Given the description of an element on the screen output the (x, y) to click on. 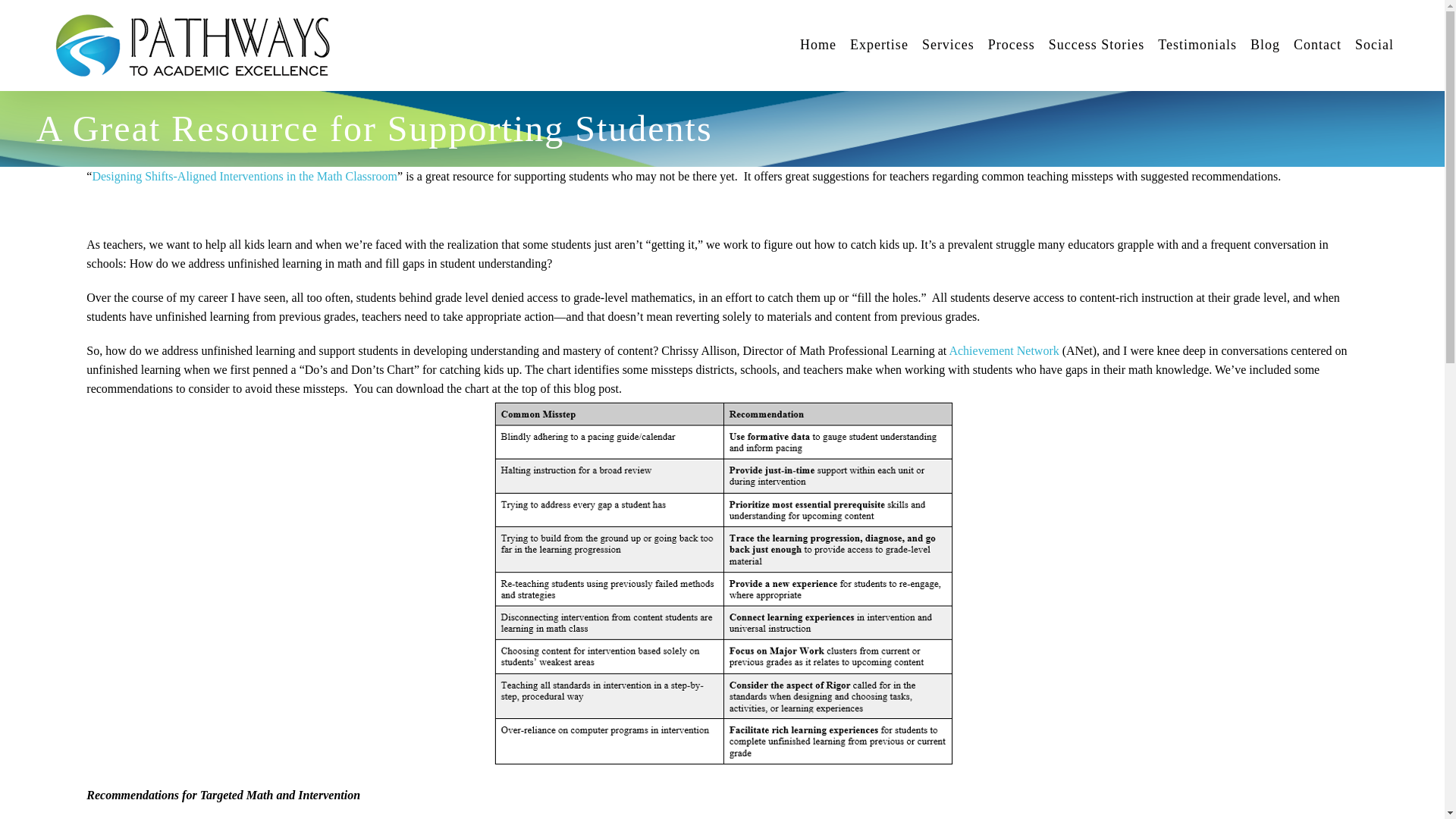
Achievement Network (1003, 350)
Designing Shifts-Aligned Interventions in the Math Classroom (244, 175)
Success Stories (1096, 44)
